Given the description of an element on the screen output the (x, y) to click on. 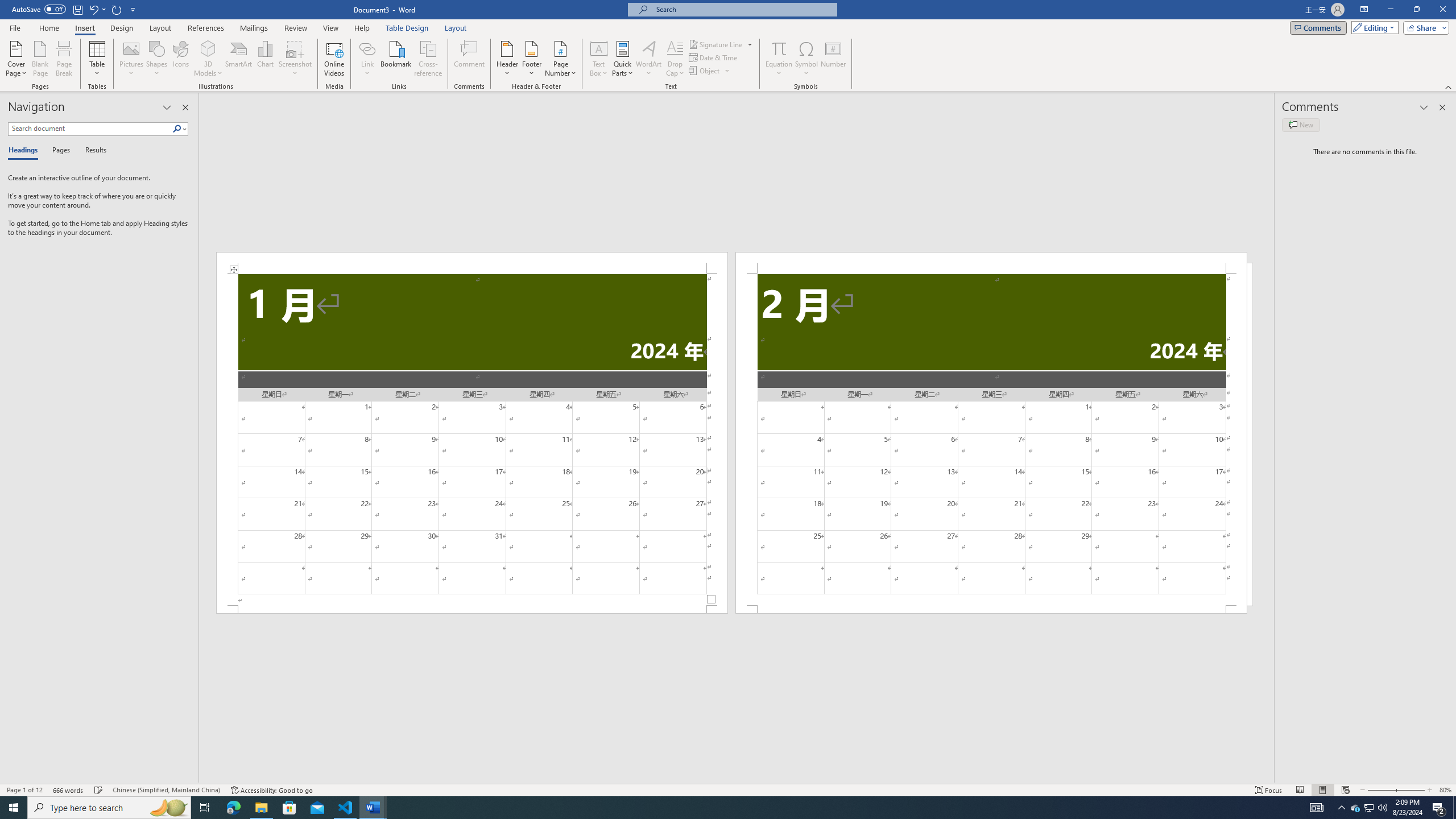
View (330, 28)
Quick Parts (622, 58)
3D Models (208, 58)
Zoom Out (1378, 790)
Share (1423, 27)
AutoSave (38, 9)
Layout (455, 28)
Repeat Doc Close (117, 9)
Date & Time... (714, 56)
Online Videos... (333, 58)
Number... (833, 58)
Pictures (131, 58)
Equation (778, 58)
Microsoft search (742, 9)
